Given the description of an element on the screen output the (x, y) to click on. 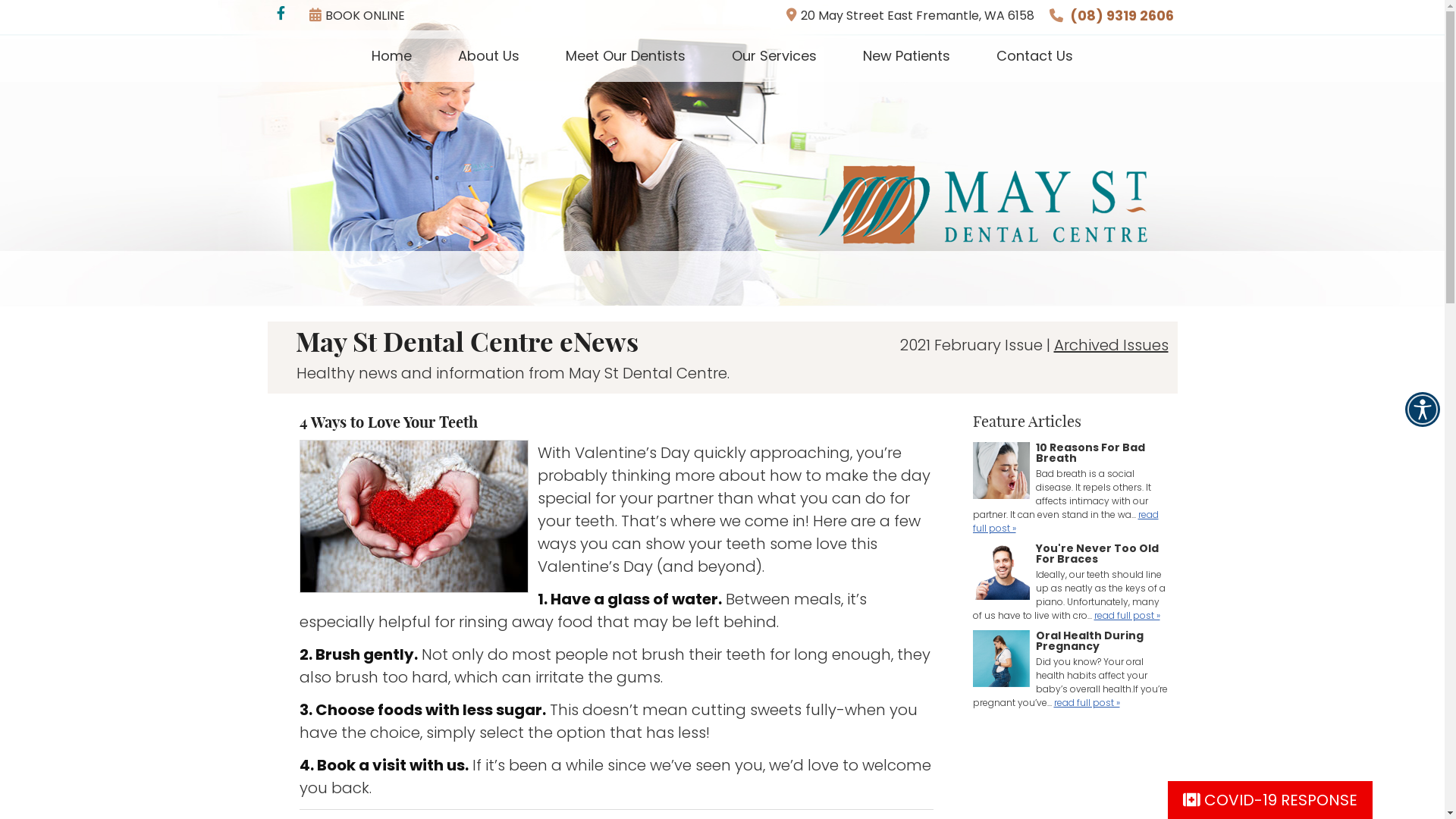
10 Reasons For Bad Breath Element type: hover (1000, 472)
20 May Street East Fremantle, WA 6158 Element type: text (909, 14)
Contact Us Element type: text (1034, 55)
New Patients Element type: text (906, 55)
Meet Our Dentists Element type: text (625, 55)
BOOK ONLINE Element type: text (356, 14)
May St Dental Centre Element type: text (982, 238)
Archived Issues Element type: text (1111, 344)
(08) 9319 2606 Element type: text (1121, 15)
Our Services Element type: text (774, 55)
Oral Health During Pregnancy Element type: hover (1000, 660)
You're Never Too Old For Braces Element type: hover (1000, 572)
Home Element type: text (391, 55)
Facebook Social Button Element type: text (282, 15)
About Us Element type: text (488, 55)
